Given the description of an element on the screen output the (x, y) to click on. 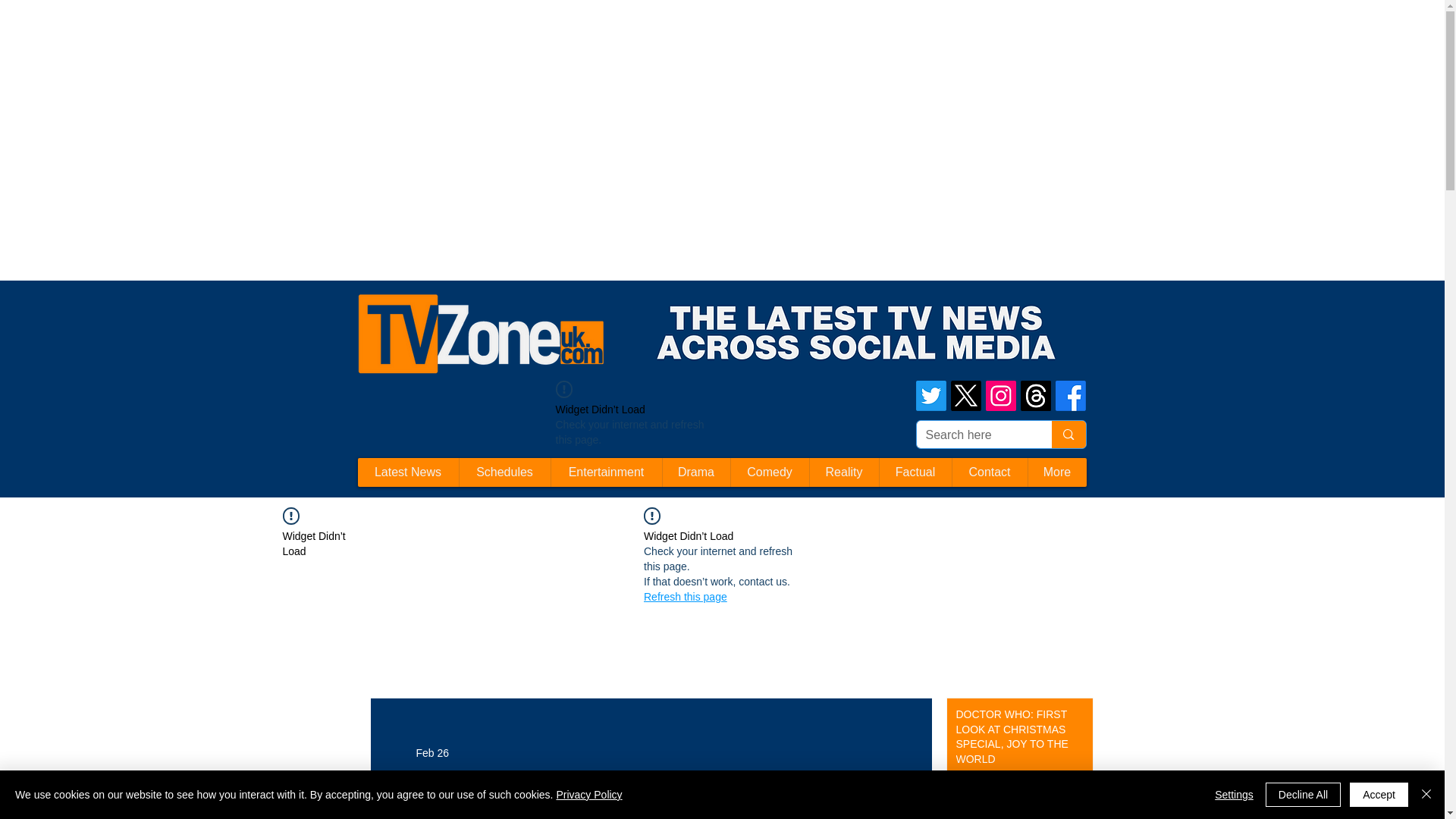
Entertainment (606, 471)
Factual (913, 471)
Contact (988, 471)
Schedules (504, 471)
Advertisement (275, 33)
1 min (965, 785)
Refresh this page (684, 596)
Feb 26 (431, 752)
Drama (695, 471)
Latest News (408, 471)
Reality (842, 471)
Comedy (768, 471)
